Given the description of an element on the screen output the (x, y) to click on. 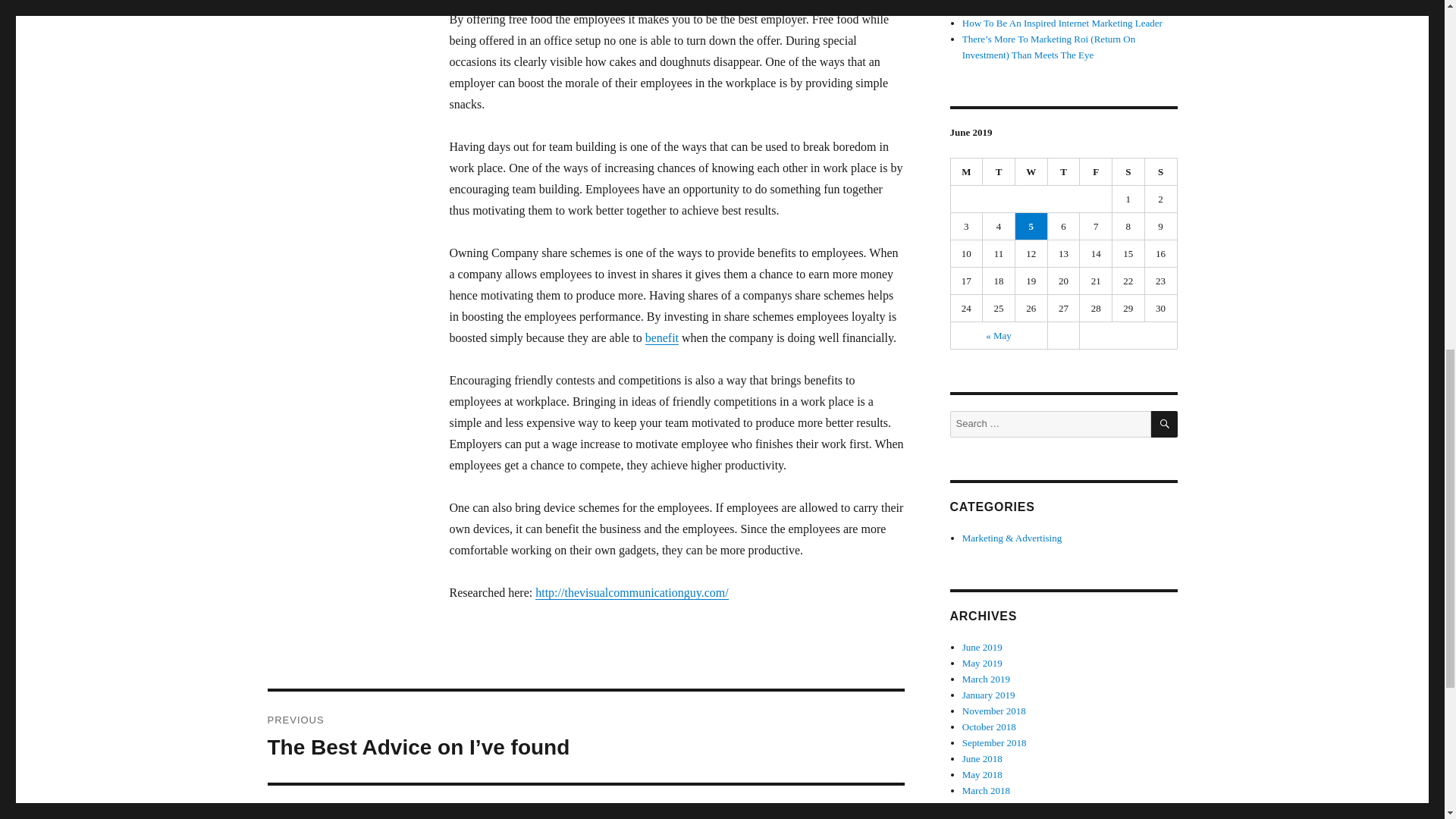
September 2018 (994, 742)
May 2018 (982, 774)
March 2018 (986, 790)
How To Be An Inspired Internet Marketing Leader (1061, 22)
November 2018 (994, 710)
March 2019 (986, 678)
June 2019 (982, 646)
November 2017 (994, 817)
Thursday (1064, 171)
Sunday (1160, 171)
How To Make Money By Building A List (1044, 7)
June 2018 (982, 758)
5 (1030, 225)
SEARCH (1164, 424)
benefit (661, 337)
